Given the description of an element on the screen output the (x, y) to click on. 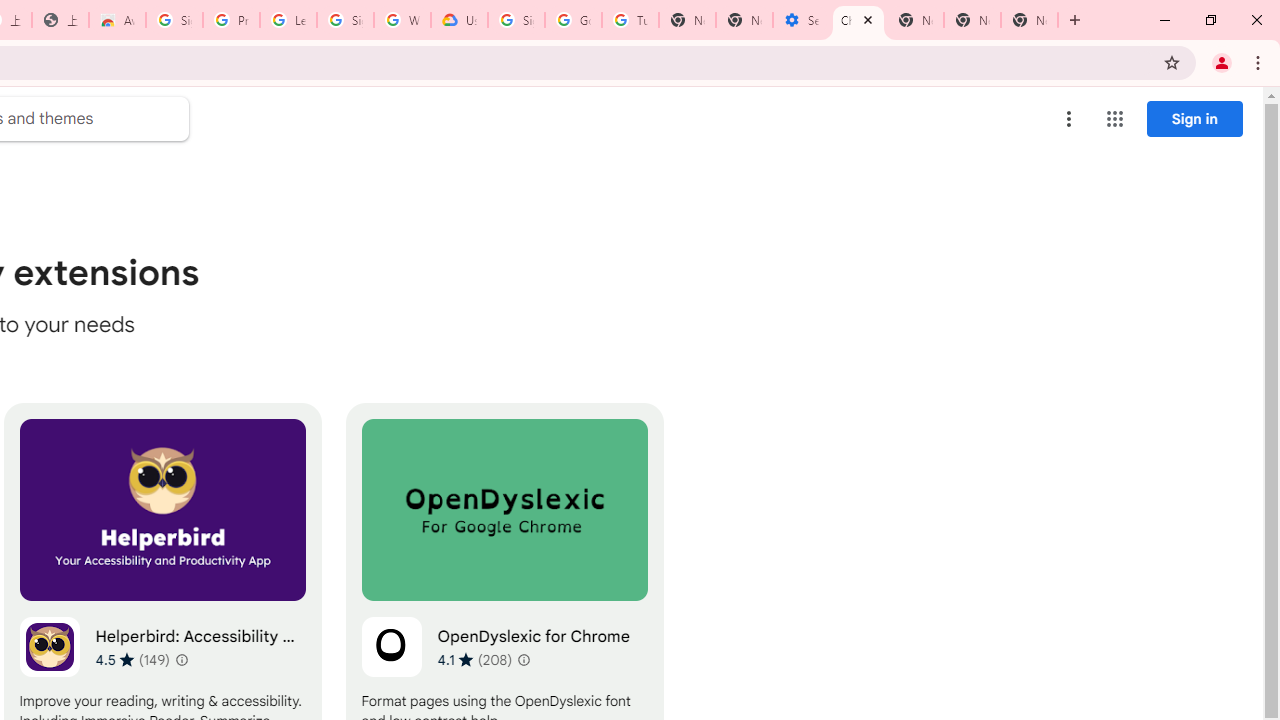
More options menu (1069, 118)
Turn cookies on or off - Computer - Google Account Help (630, 20)
Average rating 4.1 out of 5 stars. 208 ratings. (474, 659)
Sign in - Google Accounts (174, 20)
Google Account Help (573, 20)
Sign in - Google Accounts (516, 20)
